Given the description of an element on the screen output the (x, y) to click on. 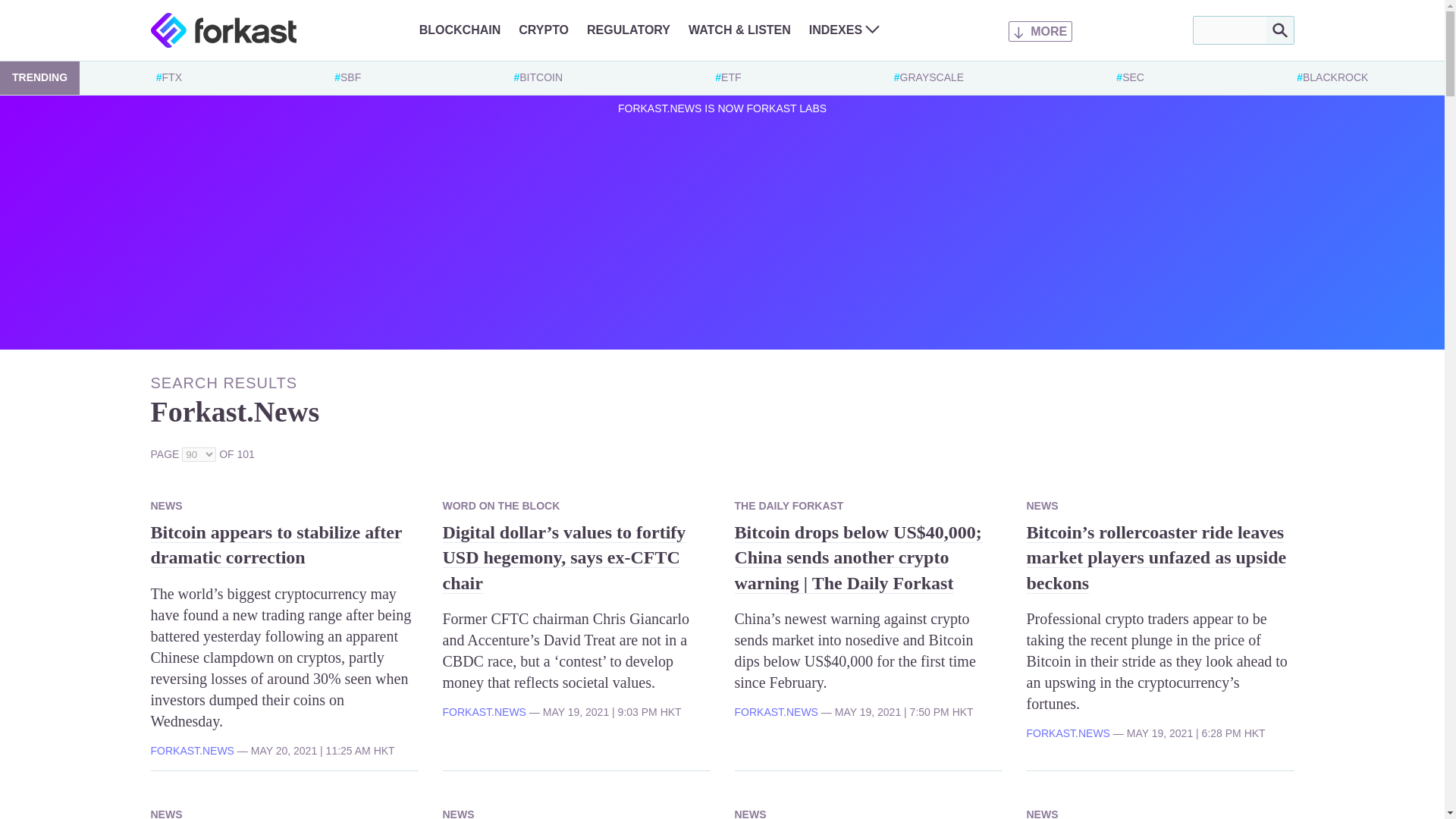
BLOCKCHAIN (459, 29)
Posts by Forkast.News (774, 711)
Posts by Forkast.News (1067, 733)
Posts by Forkast.News (483, 711)
CRYPTO (543, 29)
Posts by Forkast.News (190, 750)
INDEXES (844, 29)
REGULATORY (627, 29)
